Given the description of an element on the screen output the (x, y) to click on. 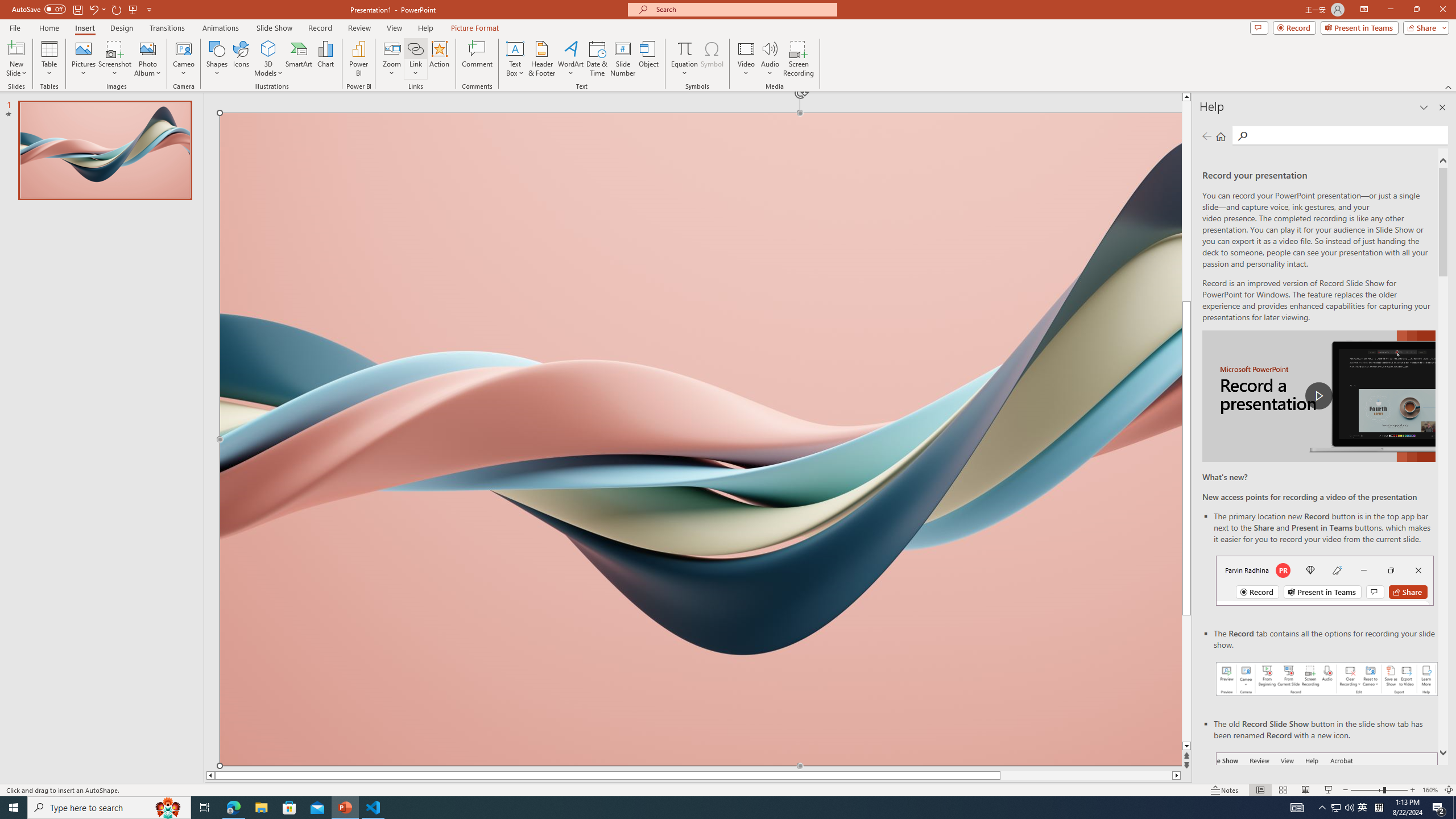
Slide Number (622, 58)
Previous page (1206, 136)
Screenshot (114, 58)
3D Models (268, 48)
Record button in top bar (1324, 580)
